Given the description of an element on the screen output the (x, y) to click on. 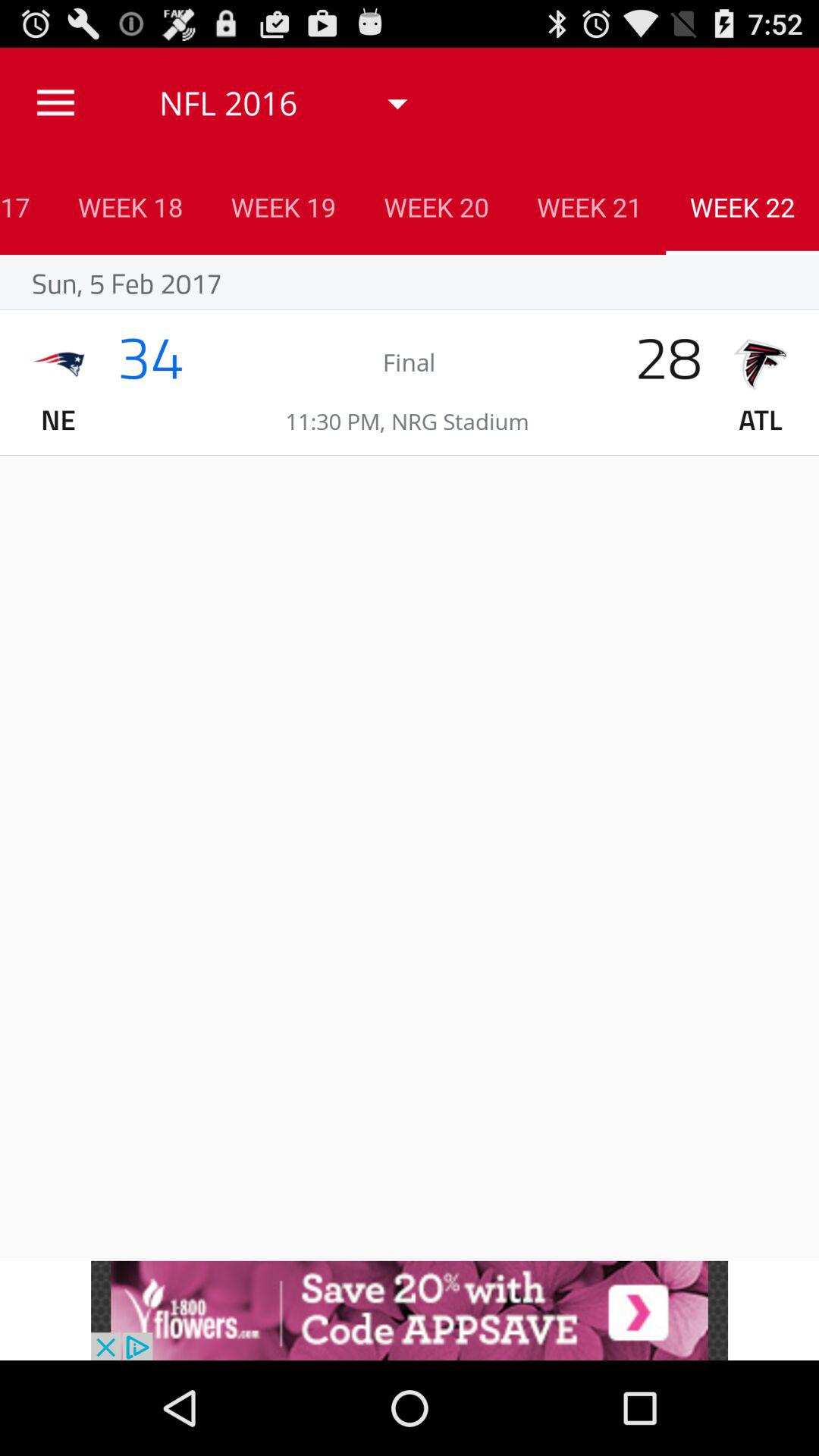
go to advertisement (409, 1310)
